Given the description of an element on the screen output the (x, y) to click on. 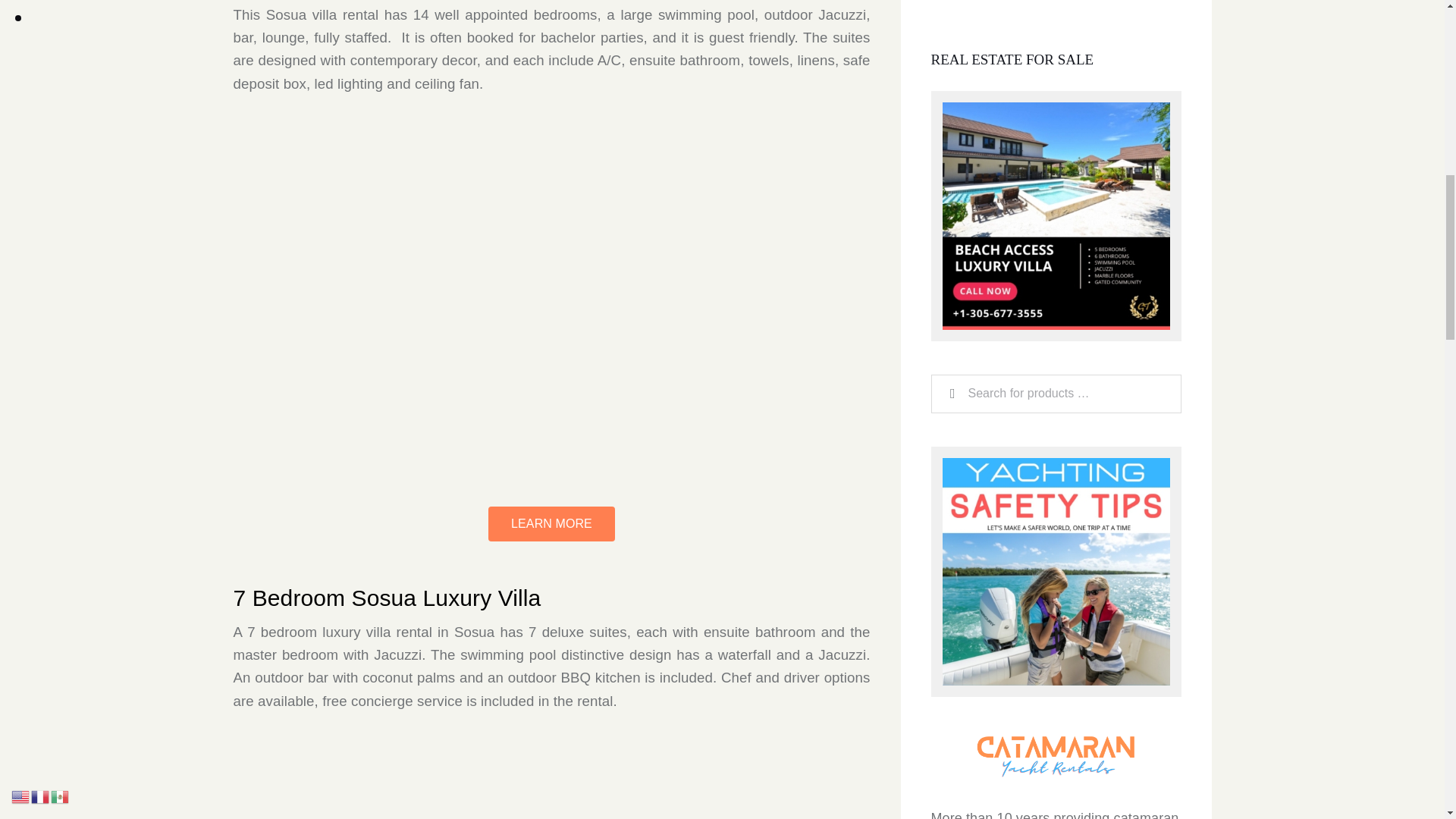
View all posts in News (1040, 680)
View all posts in News (1043, 576)
View all posts in News (1040, 788)
View all posts in yachting (1139, 576)
View all posts in sailing (1087, 576)
